Given the description of an element on the screen output the (x, y) to click on. 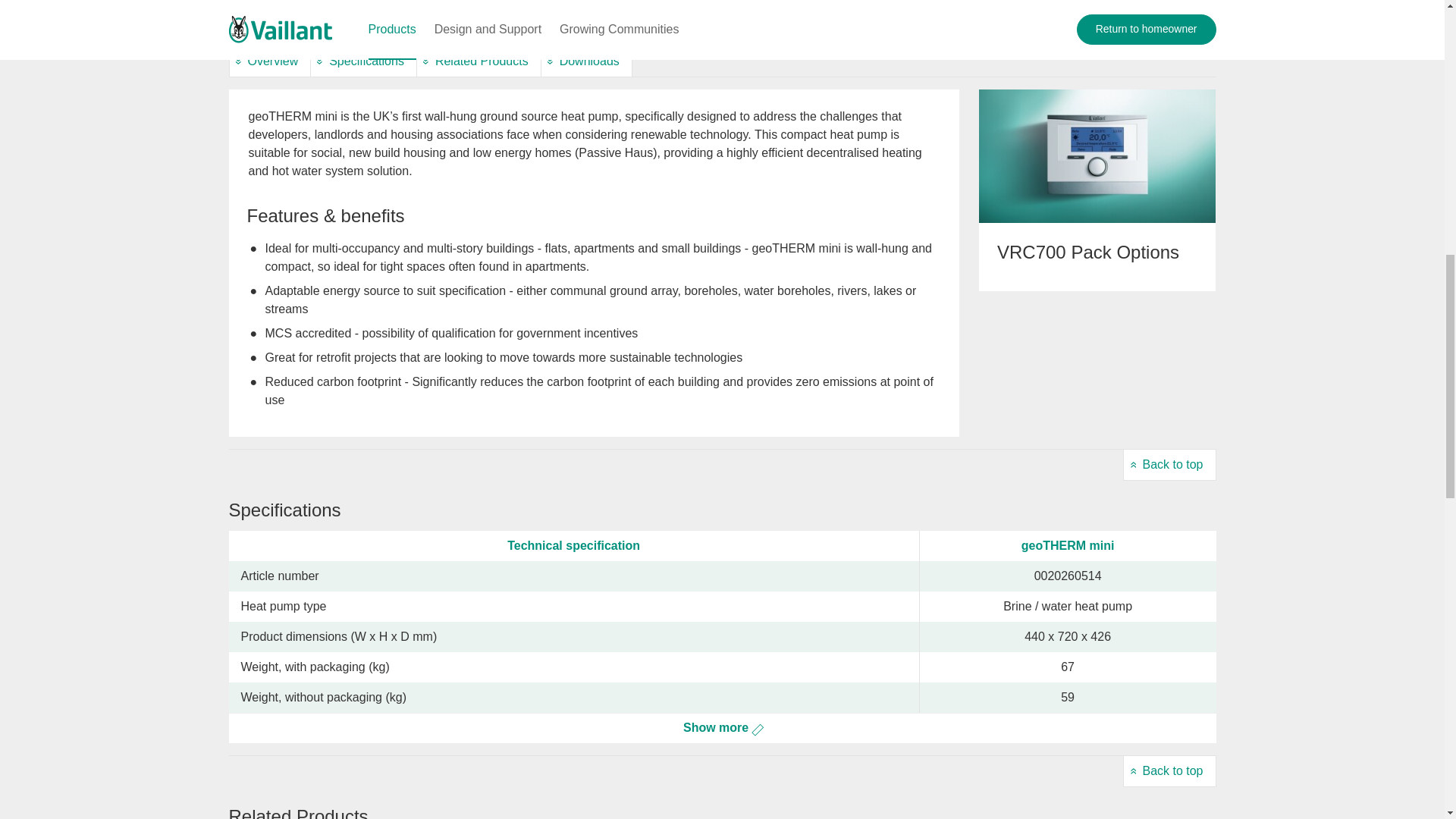
See the specification for this product (363, 60)
See related products (478, 60)
General information of this product (269, 60)
Find manuals and related brochures (585, 60)
